Given the description of an element on the screen output the (x, y) to click on. 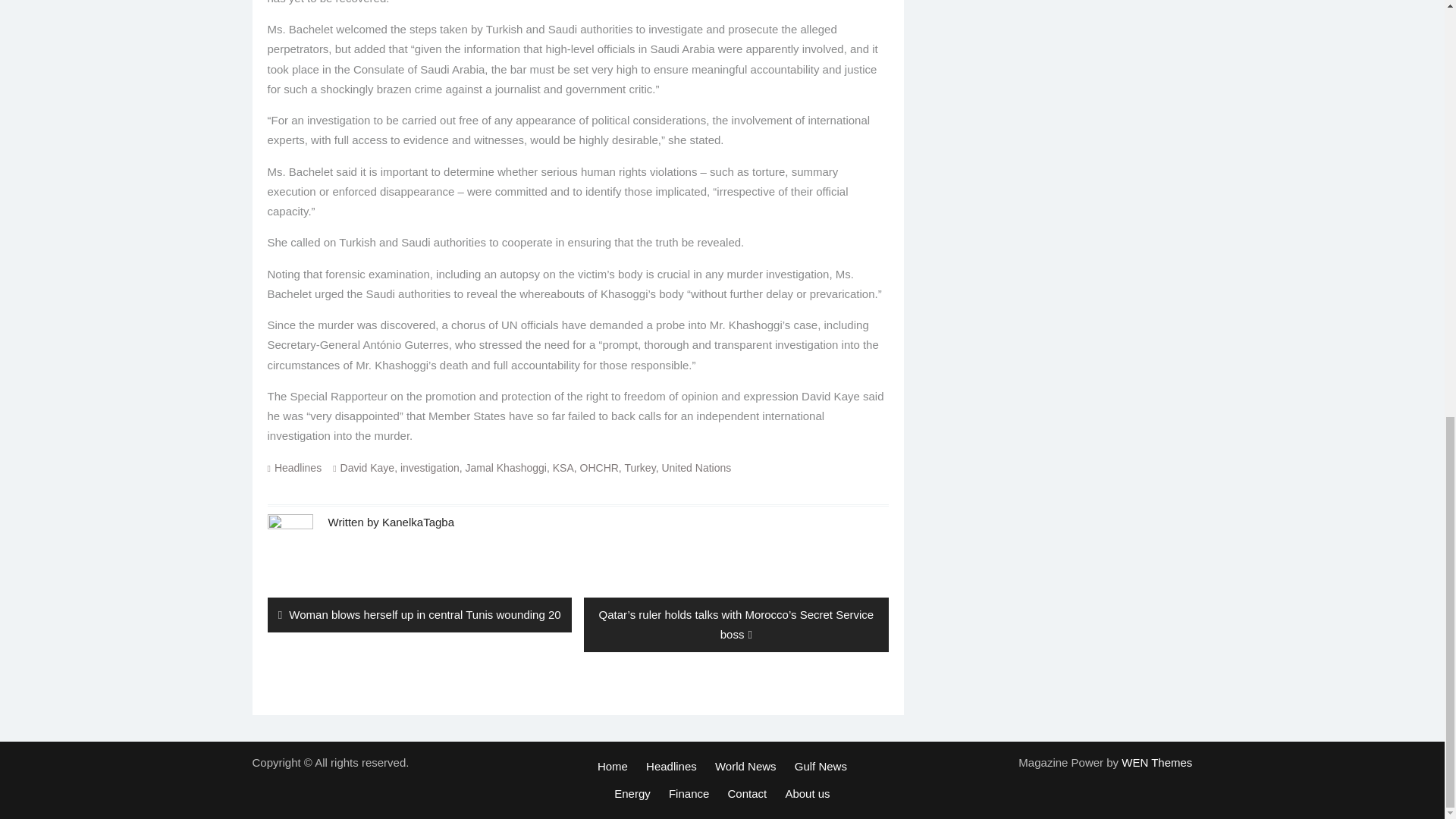
KanelkaTagba (417, 521)
investigation (430, 467)
Jamal Khashoggi (506, 467)
Posts by KanelkaTagba (417, 521)
United Nations (695, 467)
KSA (563, 467)
David Kaye (367, 467)
OHCHR (598, 467)
Headlines (298, 467)
Turkey (639, 467)
